Given the description of an element on the screen output the (x, y) to click on. 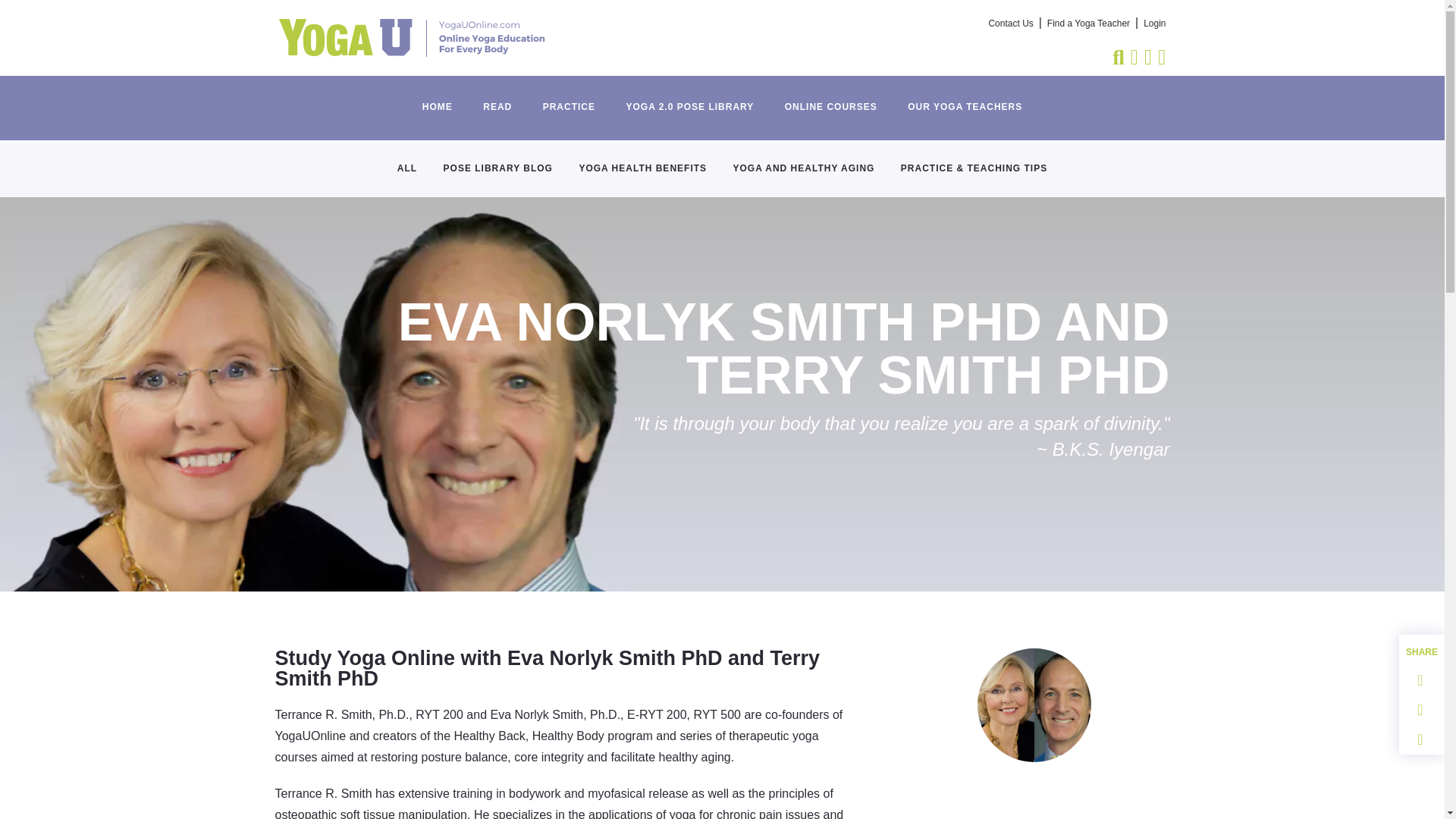
ONLINE COURSES (831, 99)
READ (496, 99)
POSE LIBRARY BLOG (498, 162)
YOGA HEALTH BENEFITS (642, 162)
Contact Us (1011, 23)
Find a Yoga Teacher (1088, 23)
ALL (406, 162)
PRACTICE (568, 99)
YOGA 2.0 POSE LIBRARY (689, 99)
YOGA AND HEALTHY AGING (804, 162)
OUR YOGA TEACHERS (964, 99)
HOME (437, 99)
